Given the description of an element on the screen output the (x, y) to click on. 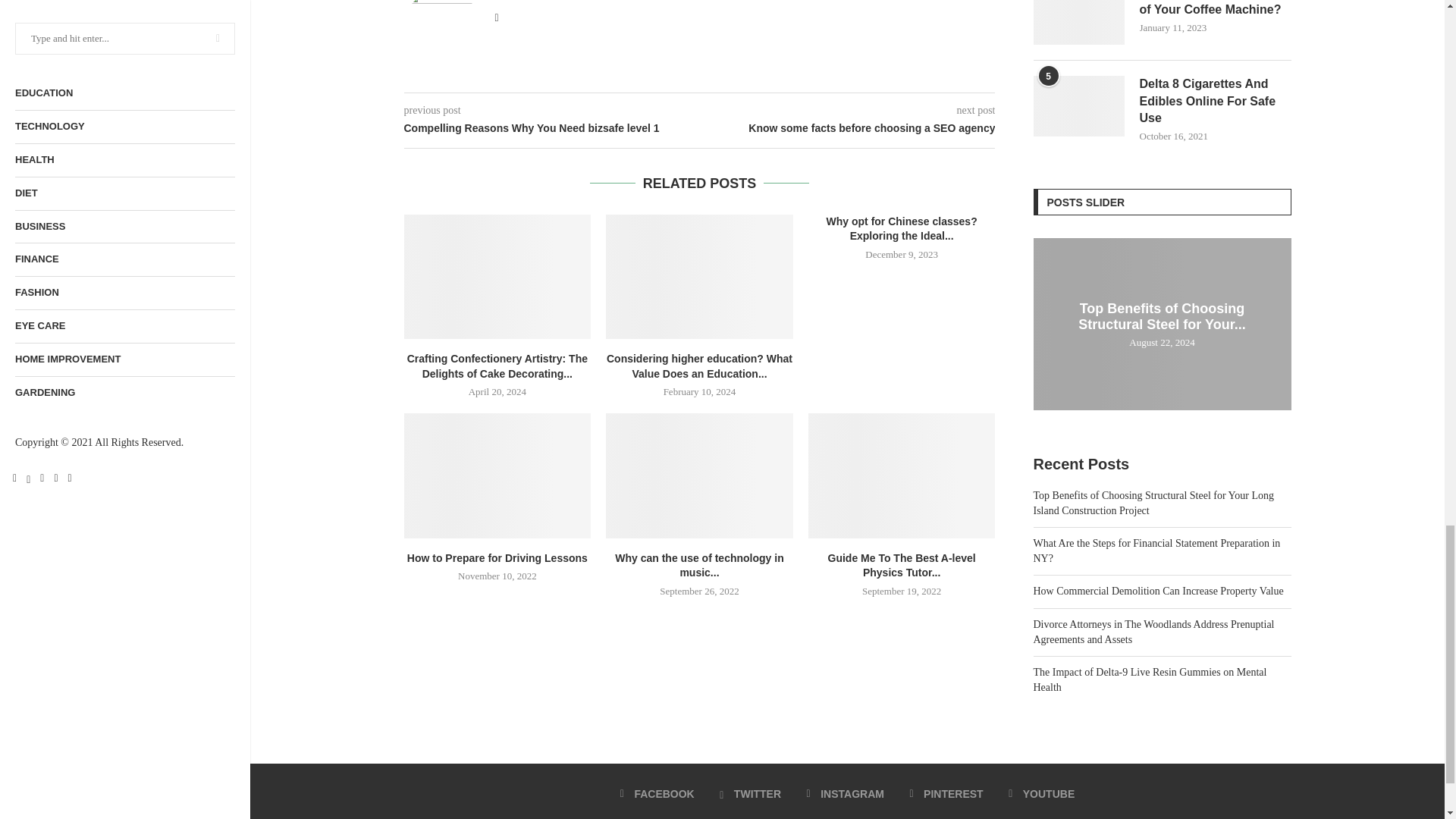
Author Julia Geiser (531, 0)
Why opt for Chinese classes? Exploring the Ideal... (901, 228)
JULIA GEISER (531, 0)
Compelling Reasons Why You Need bizsafe level 1 (550, 128)
How to Prepare for Driving Lessons (497, 475)
